Given the description of an element on the screen output the (x, y) to click on. 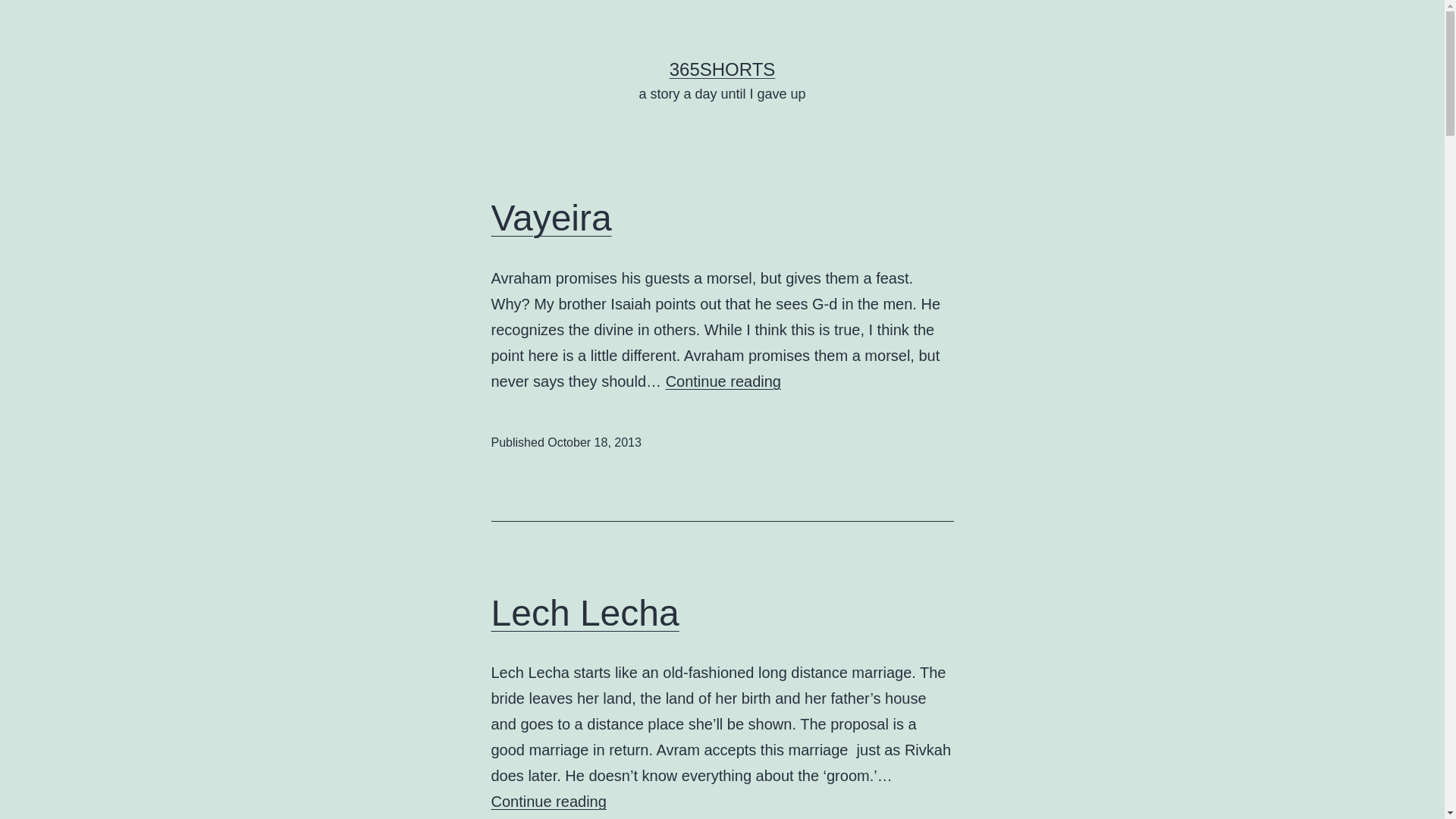
Vayeira Element type: text (551, 217)
Continue reading
Lech Lecha Element type: text (548, 801)
Continue reading
Vayeira Element type: text (723, 381)
Lech Lecha Element type: text (585, 613)
365SHORTS Element type: text (722, 69)
